Given the description of an element on the screen output the (x, y) to click on. 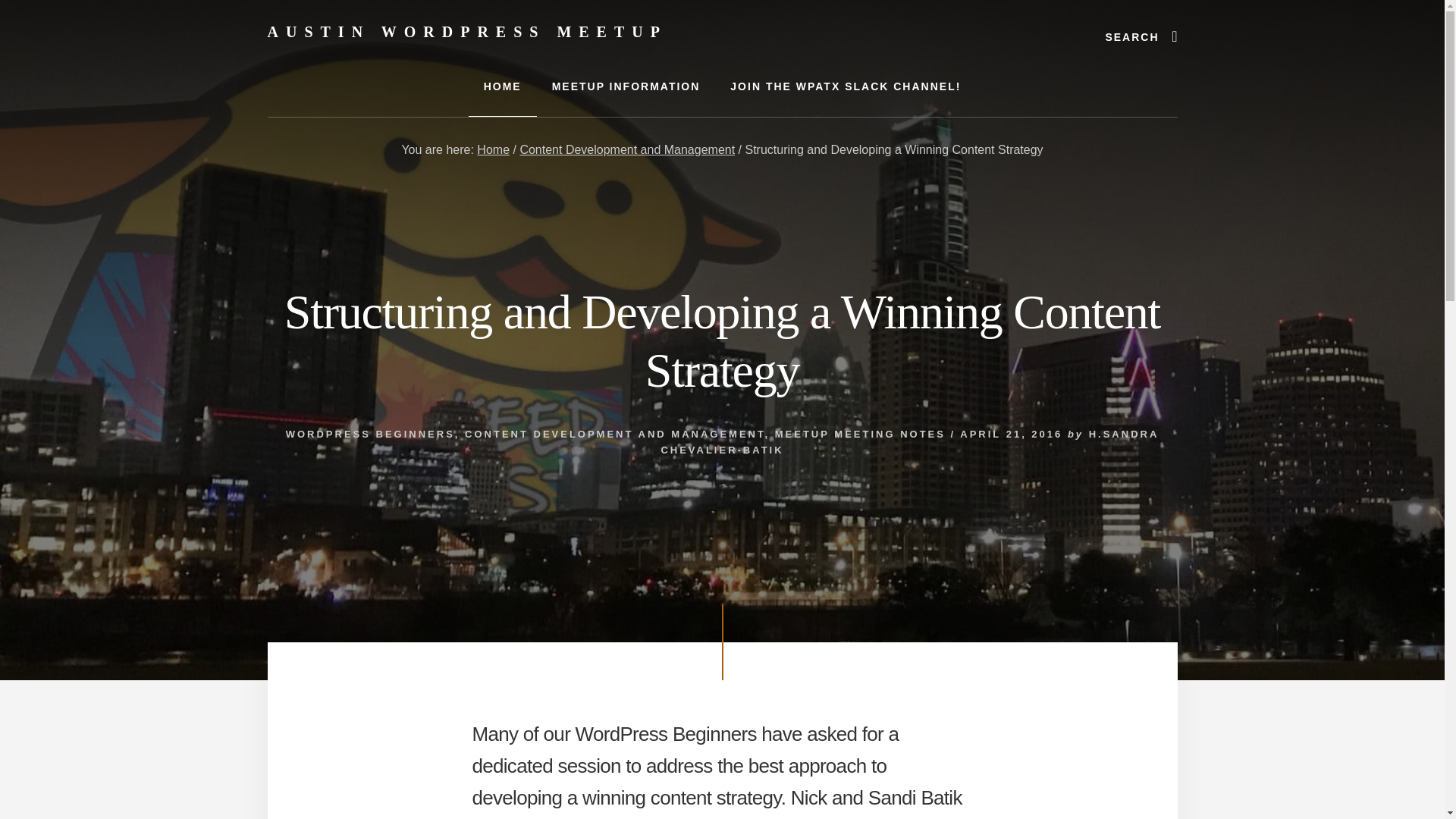
H.SANDRA CHEVALIER-BATIK (909, 441)
HOME (502, 86)
WORDPRESS BEGINNERS (369, 433)
CONTENT DEVELOPMENT AND MANAGEMENT (614, 433)
MEETUP MEETING NOTES (859, 433)
AUSTIN WORDPRESS MEETUP (466, 31)
Content Development and Management (627, 149)
